Given the description of an element on the screen output the (x, y) to click on. 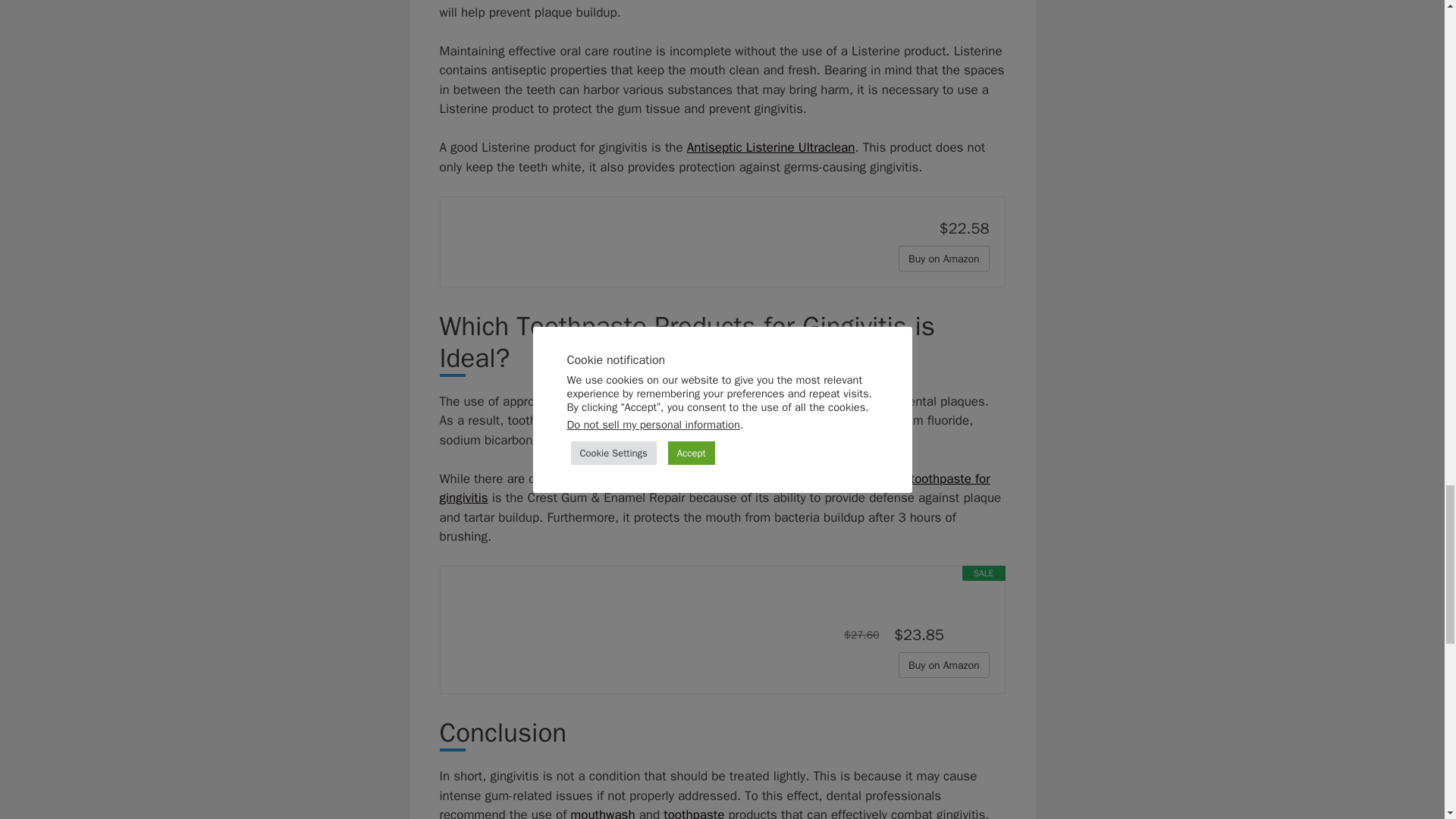
brushing (859, 0)
Buy on Amazon (943, 258)
Antiseptic Listerine Ultraclean (771, 147)
Buy on Amazon (943, 258)
